Given the description of an element on the screen output the (x, y) to click on. 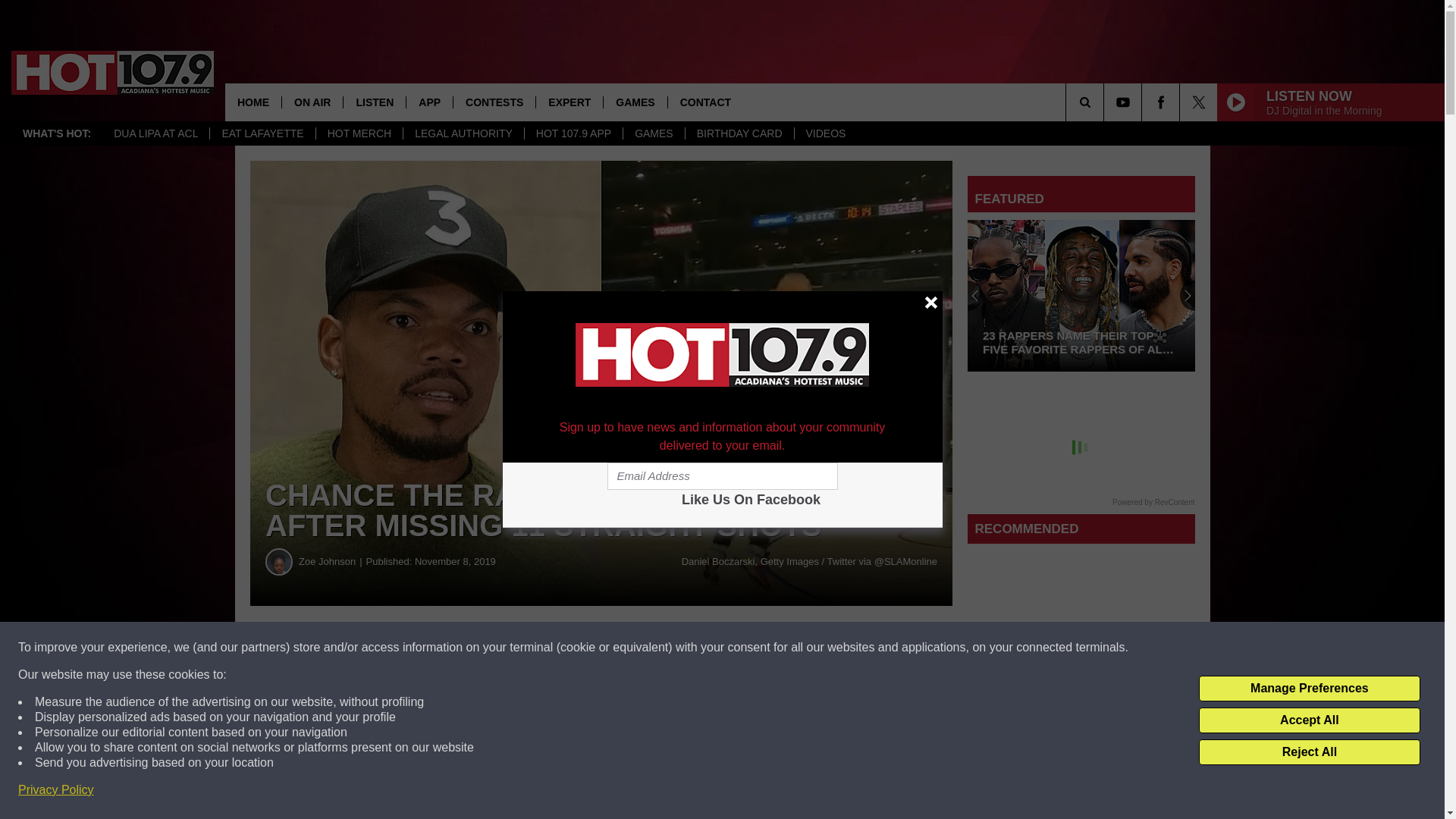
Reject All (1309, 751)
SEARCH (1106, 102)
Email Address (722, 475)
ON AIR (311, 102)
Share on Facebook (460, 647)
HOME (253, 102)
DUA LIPA AT ACL (155, 133)
WHAT'S HOT: (56, 133)
APP (429, 102)
HOT MERCH (359, 133)
EAT LAFAYETTE (261, 133)
Accept All (1309, 720)
VIDEOS (825, 133)
Manage Preferences (1309, 688)
Privacy Policy (55, 789)
